Given the description of an element on the screen output the (x, y) to click on. 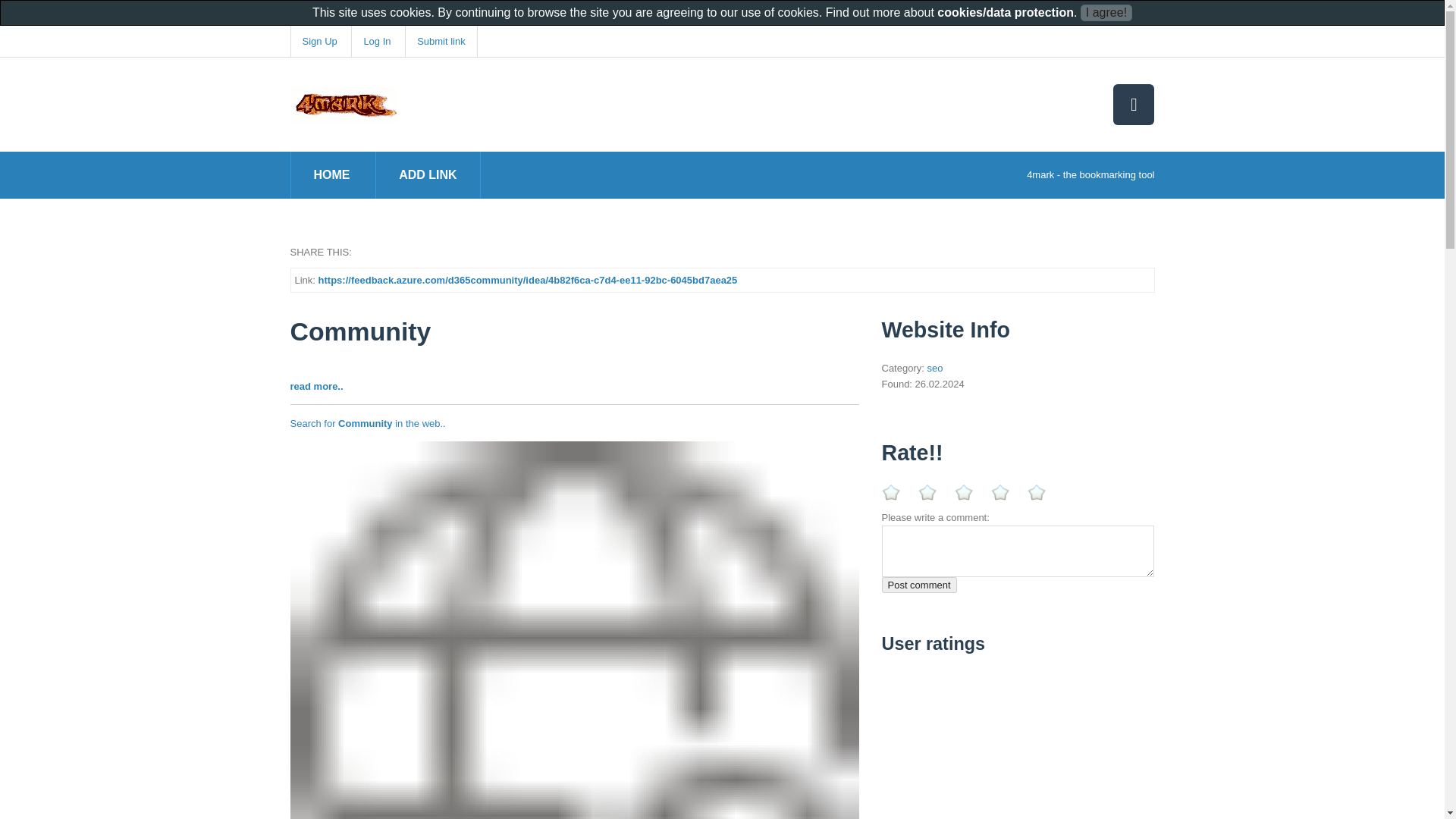
I agree! (1106, 12)
Post comment (918, 584)
Sign Up (318, 40)
read more.. (315, 386)
Search for Community in the web.. (367, 423)
HOME (332, 174)
Log In (375, 40)
Submit link (440, 40)
Click to view! (574, 725)
ADD LINK (427, 174)
